Given the description of an element on the screen output the (x, y) to click on. 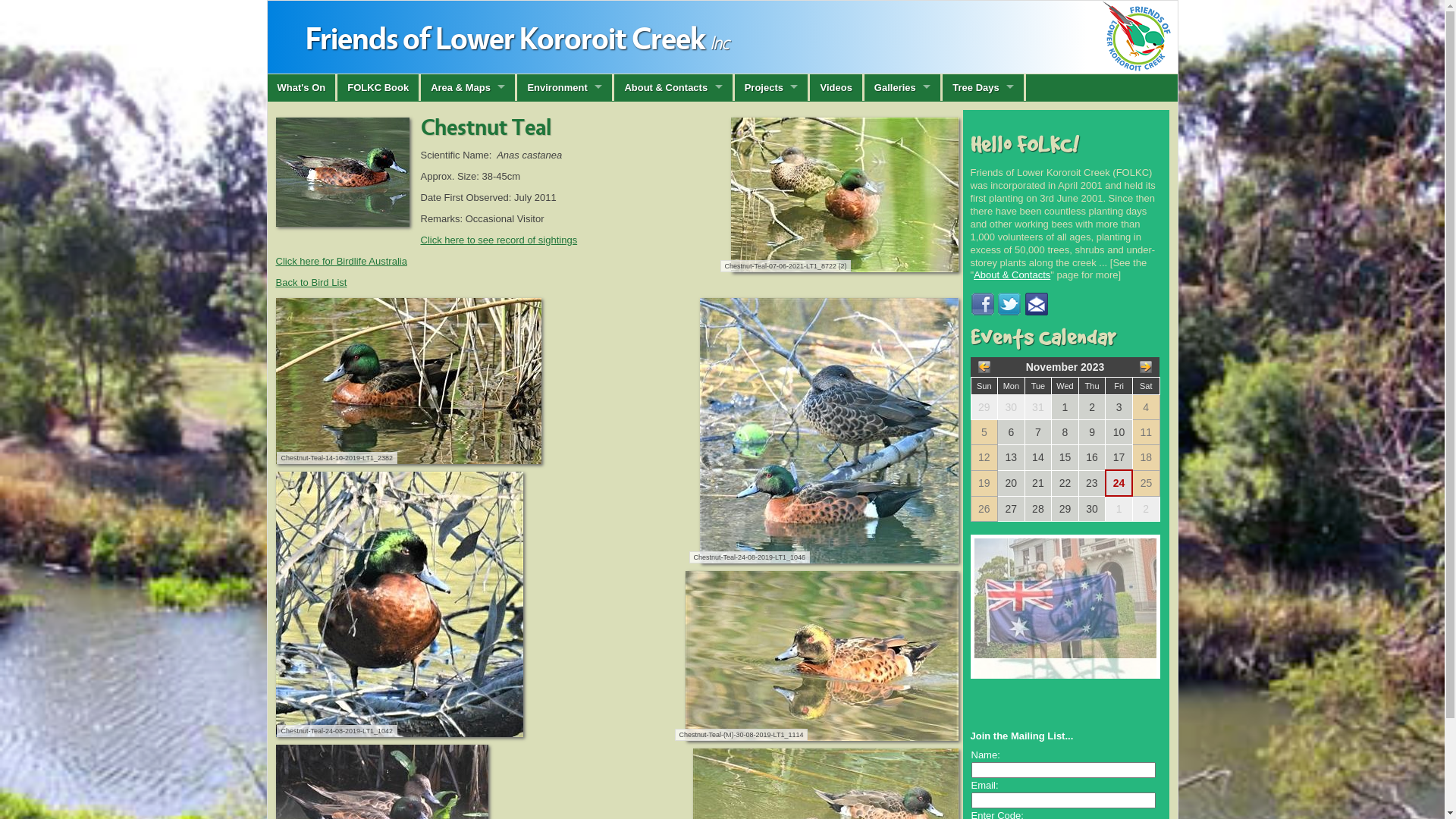
Chestnut-Teal-14-10-2019-LT1_2382 Element type: hover (408, 380)
About & Contacts Element type: text (674, 87)
Chestnut-Teal-07-06-2021-LT1_8722 (2) Element type: hover (844, 194)
About & Contacts Element type: text (1011, 274)
Chestnut-Teal-(M)-30-08-2019-LT1_1114 Element type: hover (821, 655)
Galleries Element type: text (903, 87)
Environment Element type: text (565, 87)
What's On Element type: text (301, 87)
Previous Egret Logo Element type: hover (1064, 644)
Area & Maps Element type: text (468, 87)
Projects Element type: text (772, 87)
FOLKC Book Element type: text (378, 87)
Chestnut-Teal-24-08-2019-LT1_1042 Element type: hover (399, 604)
Click here to see record of sightings Element type: text (498, 238)
Friends of Lower Kororoit Creek Inc Element type: text (721, 36)
Chestnut-Teal-24-08-2019-LT1_1046 Element type: hover (828, 429)
Back to Bird List Element type: text (311, 281)
Videos Element type: text (836, 87)
Click here for Birdlife Australia Element type: text (341, 260)
Tree Days Element type: text (984, 87)
